Given the description of an element on the screen output the (x, y) to click on. 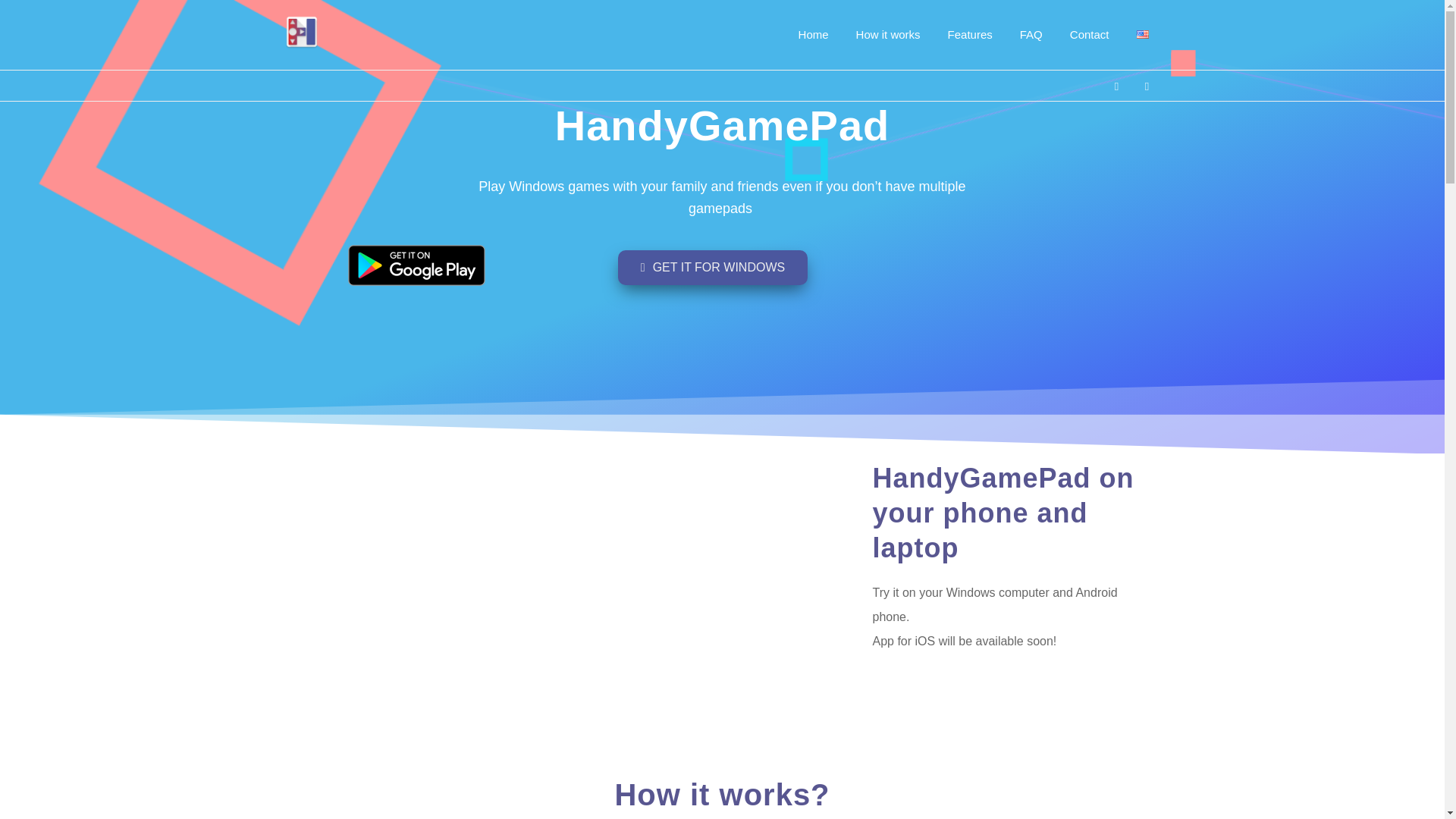
google-play-badge (416, 265)
GET IT FOR WINDOWS (712, 267)
How it works (888, 34)
Contact (1089, 34)
Features (970, 34)
FAQ (1031, 34)
Home (813, 34)
